Given the description of an element on the screen output the (x, y) to click on. 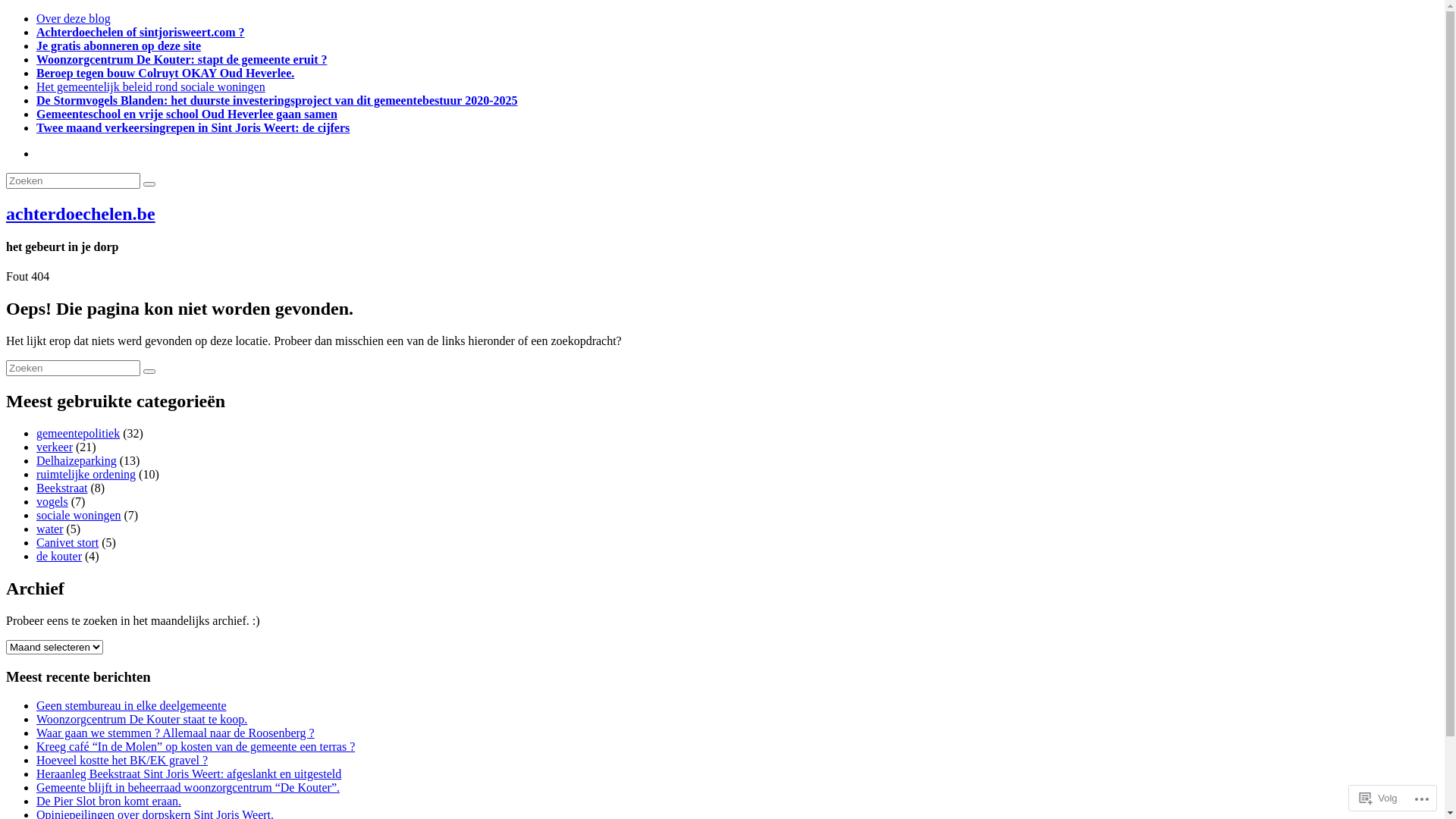
Zoek op: Element type: hover (73, 180)
verkeer Element type: text (54, 446)
Delhaizeparking Element type: text (76, 460)
achterdoechelen.be Element type: text (80, 213)
Over deze blog Element type: text (73, 18)
Hoeveel kostte het BK/EK gravel ? Element type: text (121, 759)
gemeentepolitiek Element type: text (77, 432)
Beekstraat Element type: text (61, 487)
Zoek op: Element type: hover (73, 368)
de kouter Element type: text (58, 555)
Woonzorgcentrum De Kouter: stapt de gemeente eruit ? Element type: text (181, 59)
De Pier Slot bron komt eraan. Element type: text (108, 800)
Gemeenteschool en vrije school Oud Heverlee gaan samen Element type: text (186, 113)
sociale woningen Element type: text (78, 514)
Volg Element type: text (1377, 797)
Beroep tegen bouw Colruyt OKAY Oud Heverlee. Element type: text (165, 72)
Canivet stort Element type: text (67, 542)
Woonzorgcentrum De Kouter staat te koop. Element type: text (141, 718)
Geen stembureau in elke deelgemeente Element type: text (131, 705)
Achterdoechelen of sintjorisweert.com ? Element type: text (140, 31)
water Element type: text (49, 528)
Het gemeentelijk beleid rond sociale woningen Element type: text (150, 86)
Waar gaan we stemmen ? Allemaal naar de Roosenberg ? Element type: text (175, 732)
vogels Element type: text (52, 501)
ruimtelijke ordening Element type: text (85, 473)
Twee maand verkeersingrepen in Sint Joris Weert: de cijfers Element type: text (192, 127)
Je gratis abonneren op deze site Element type: text (118, 45)
